Given the description of an element on the screen output the (x, y) to click on. 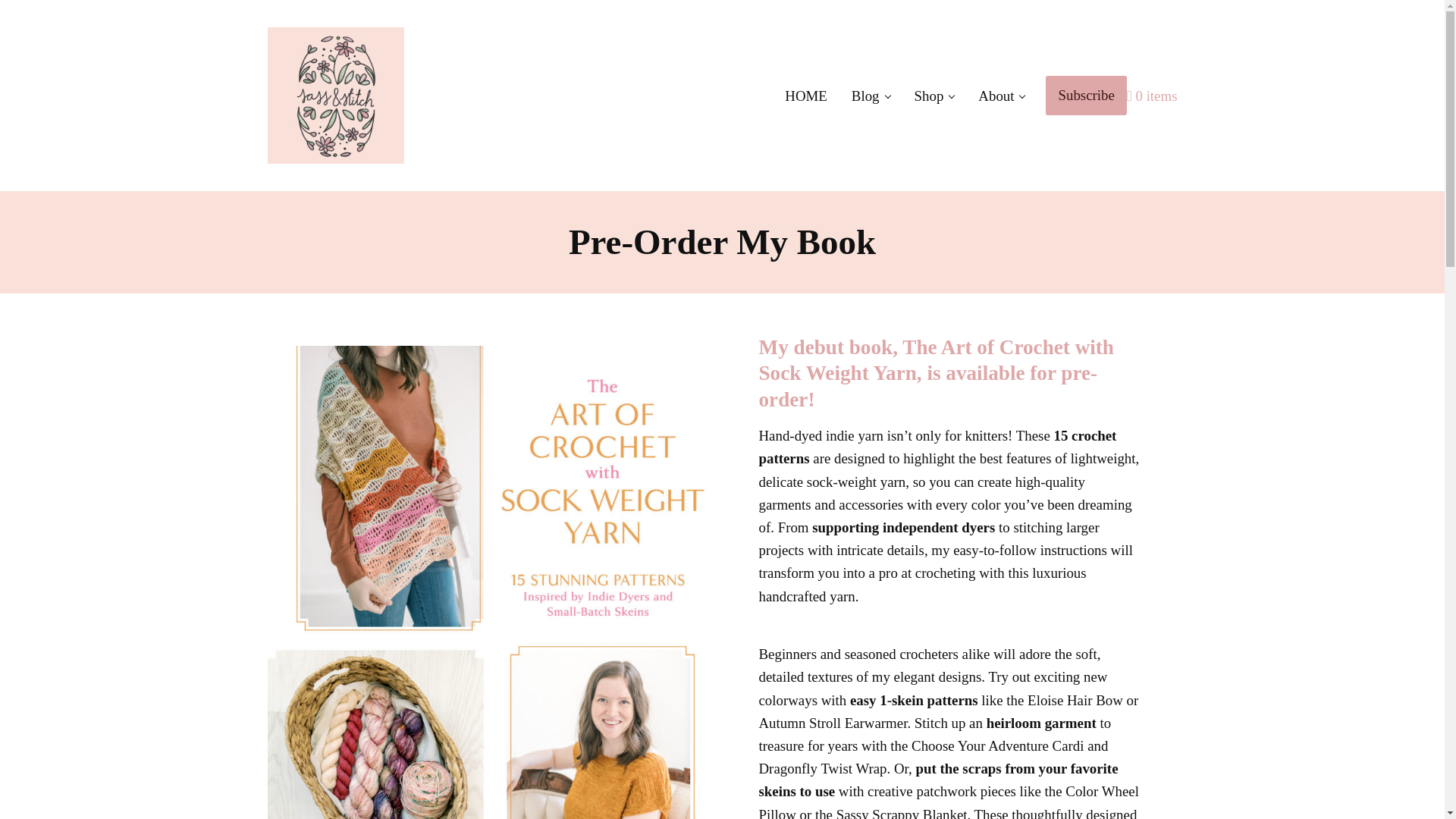
Start shopping (1151, 95)
Subscribe (1085, 96)
0 items (1151, 95)
Shop (934, 95)
HOME (806, 95)
Blog (871, 95)
About (1001, 95)
